Given the description of an element on the screen output the (x, y) to click on. 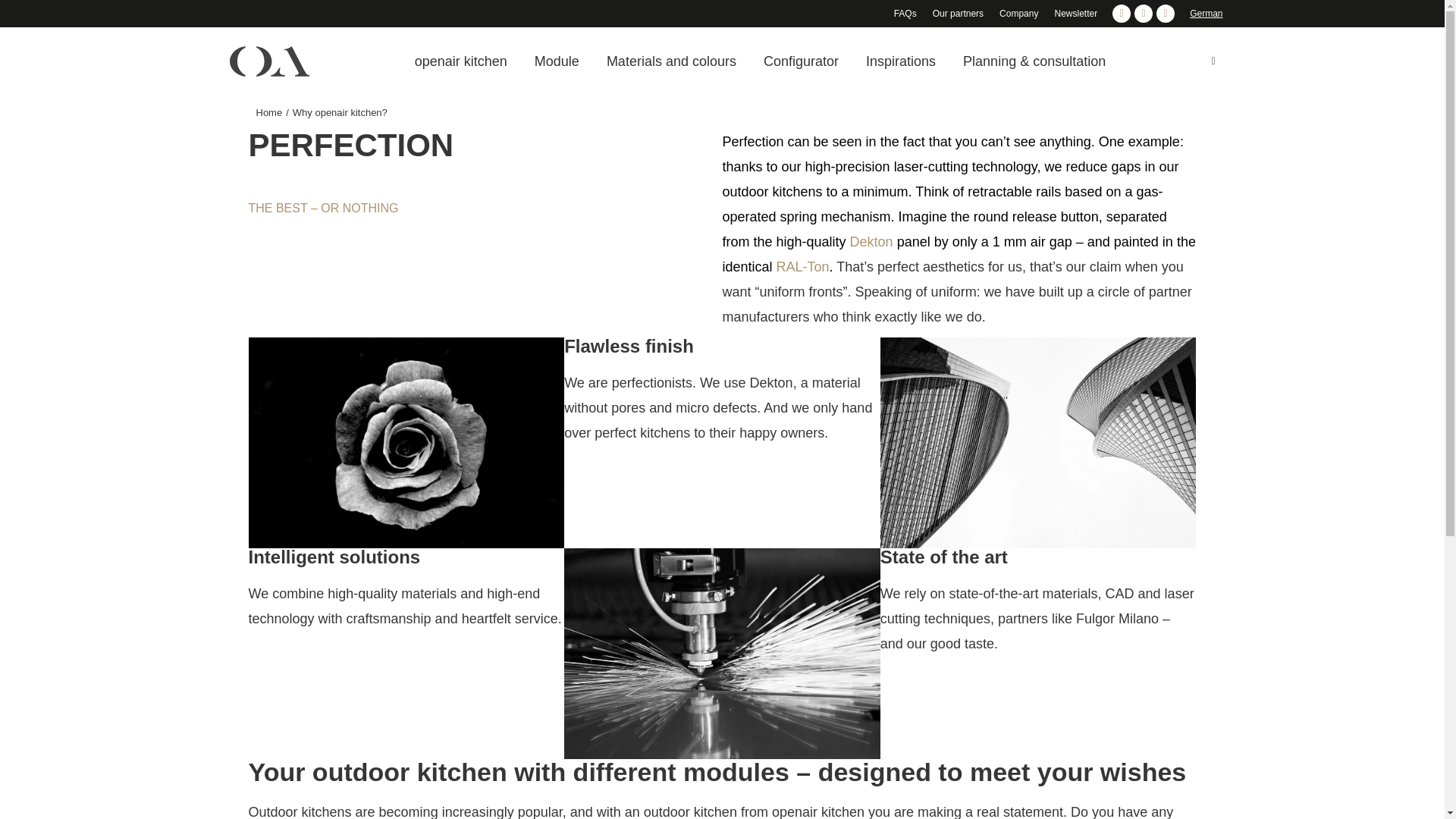
German (1206, 13)
Our partners (958, 13)
Home (269, 112)
Newsletter (1075, 13)
FAQs (905, 13)
Inspirations (901, 60)
Pinterest page opens in new window (1165, 13)
openair kitchen (461, 60)
Module (556, 60)
Why openair kitchen? (339, 112)
German (1206, 13)
Company (1018, 13)
Configurator (800, 60)
Go! (24, 16)
Facebook page opens in new window (1121, 13)
